Given the description of an element on the screen output the (x, y) to click on. 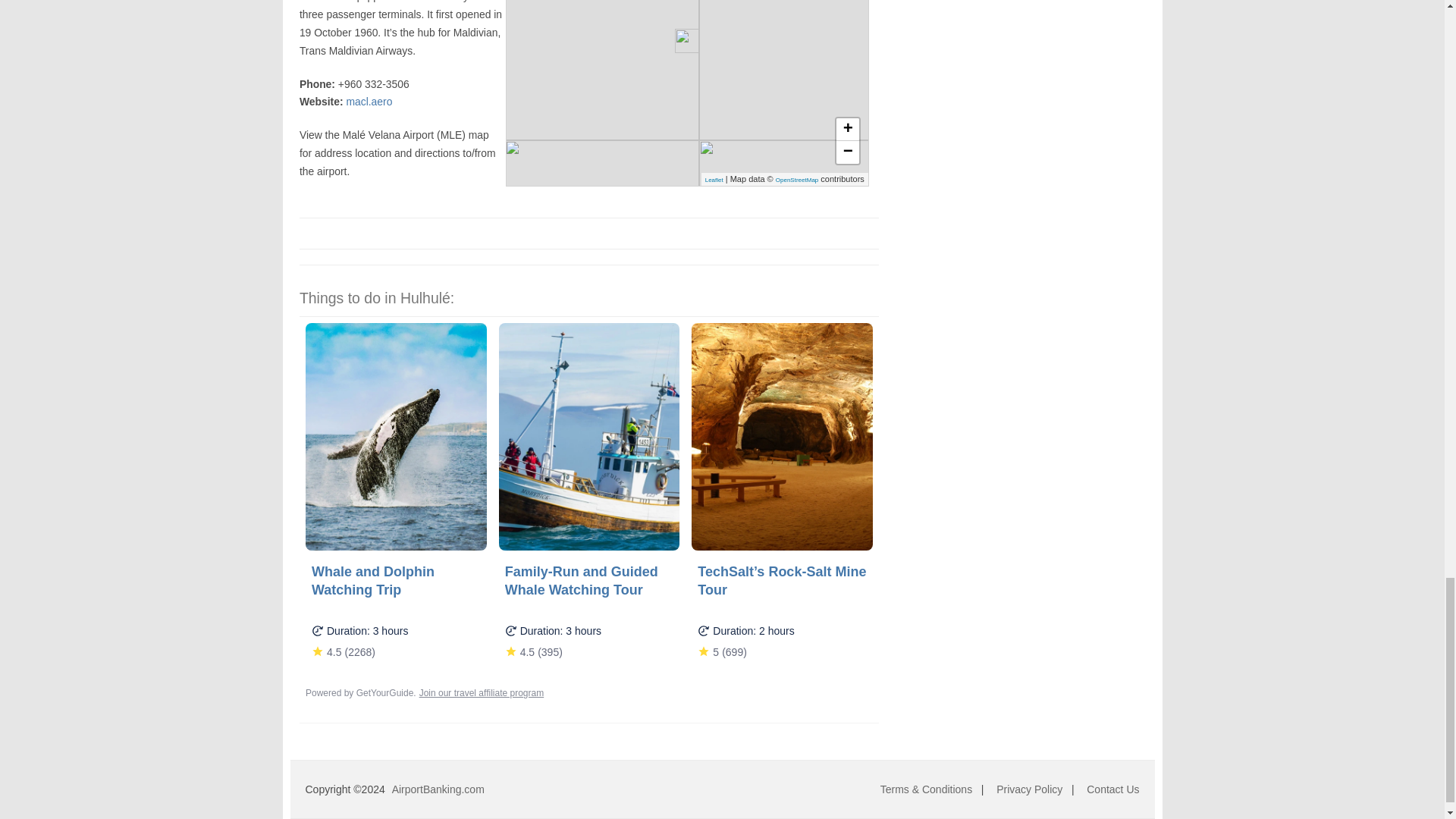
OpenStreetMap (797, 179)
Leaflet (713, 179)
macl.aero (368, 101)
A JS library for interactive maps (713, 179)
